Given the description of an element on the screen output the (x, y) to click on. 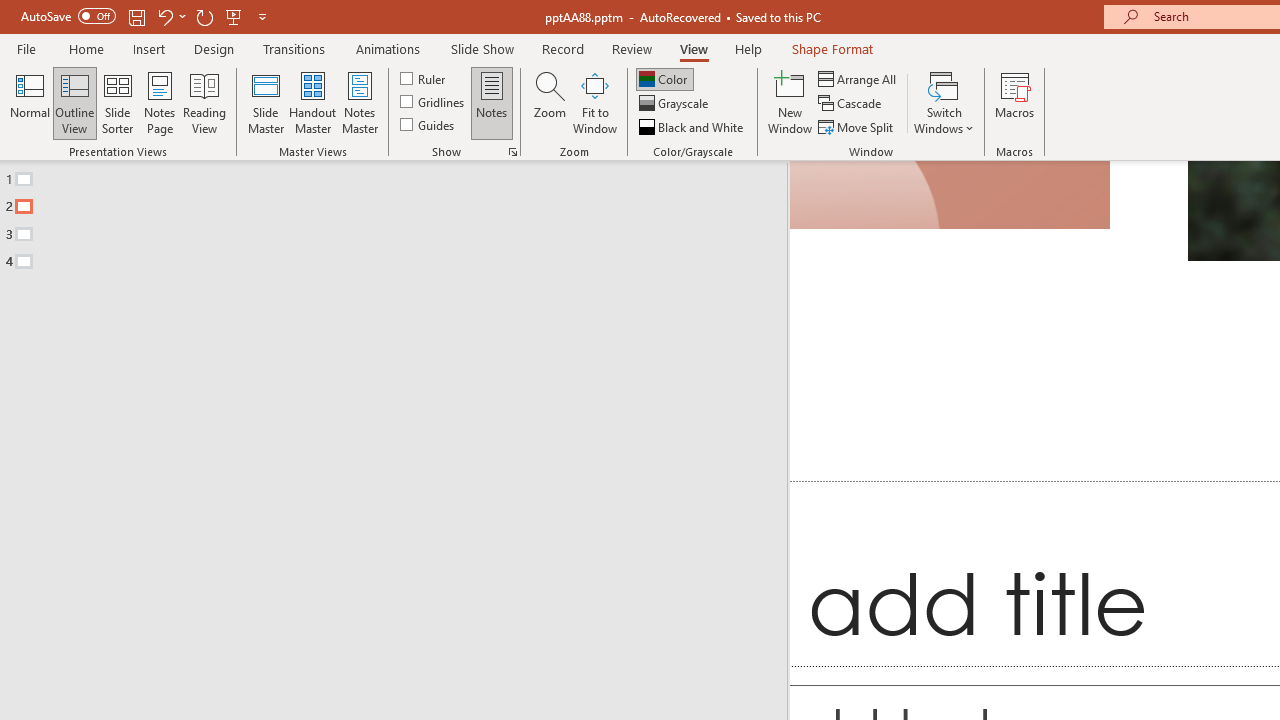
Notes Master (360, 102)
Outline View (74, 102)
Gridlines (433, 101)
Camera 13, No camera detected. (950, 195)
Color (664, 78)
Ruler (423, 78)
Guides (428, 124)
